Given the description of an element on the screen output the (x, y) to click on. 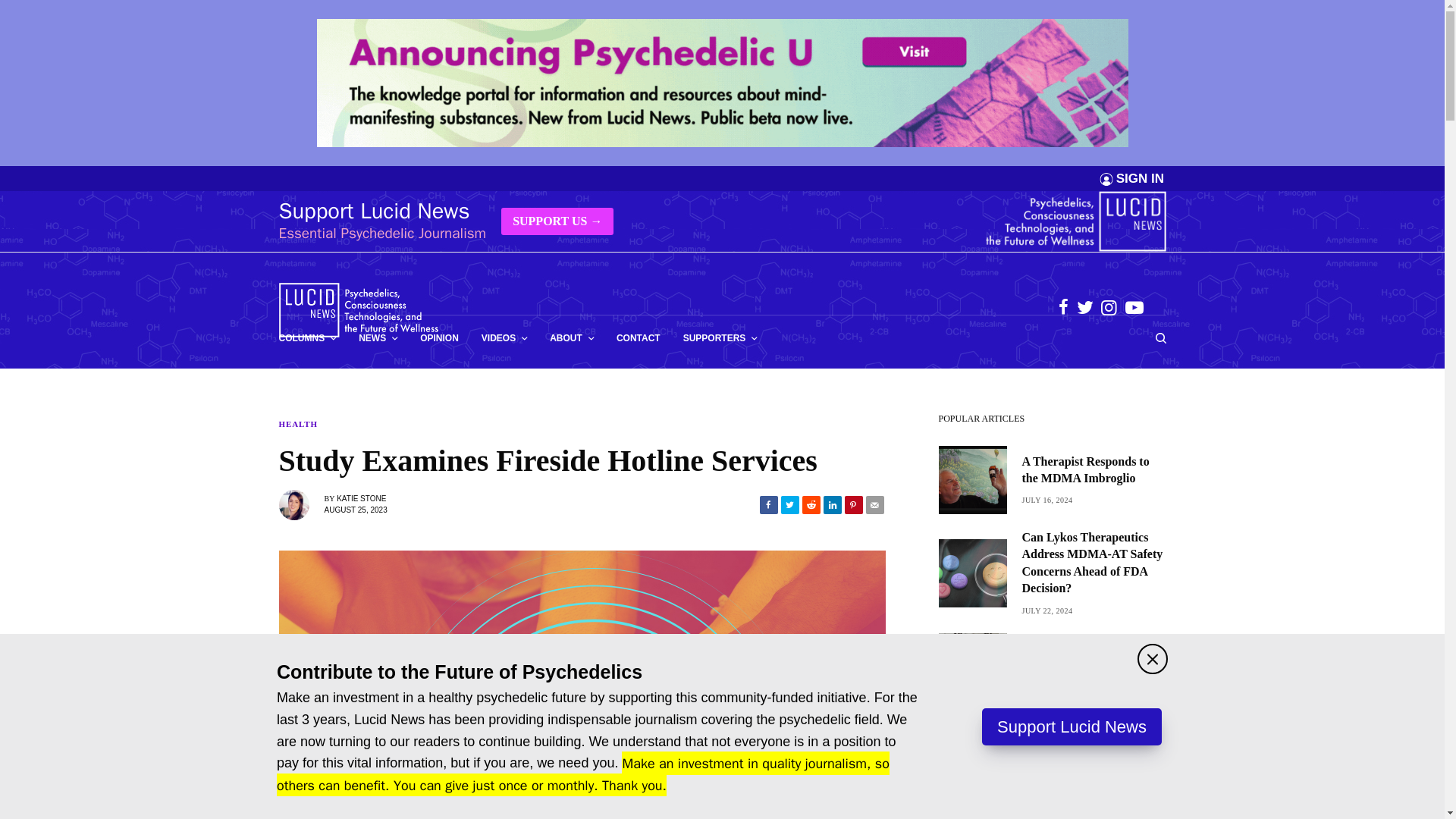
A Therapist Responds to the MDMA Imbroglio (1094, 470)
Posts by Katie Stone (360, 498)
SIGN IN (1139, 178)
OPINION (439, 338)
NEWS (377, 338)
VIDEOS (504, 338)
COLUMNS (307, 338)
ABOUT (572, 338)
Lucid News (360, 309)
